Given the description of an element on the screen output the (x, y) to click on. 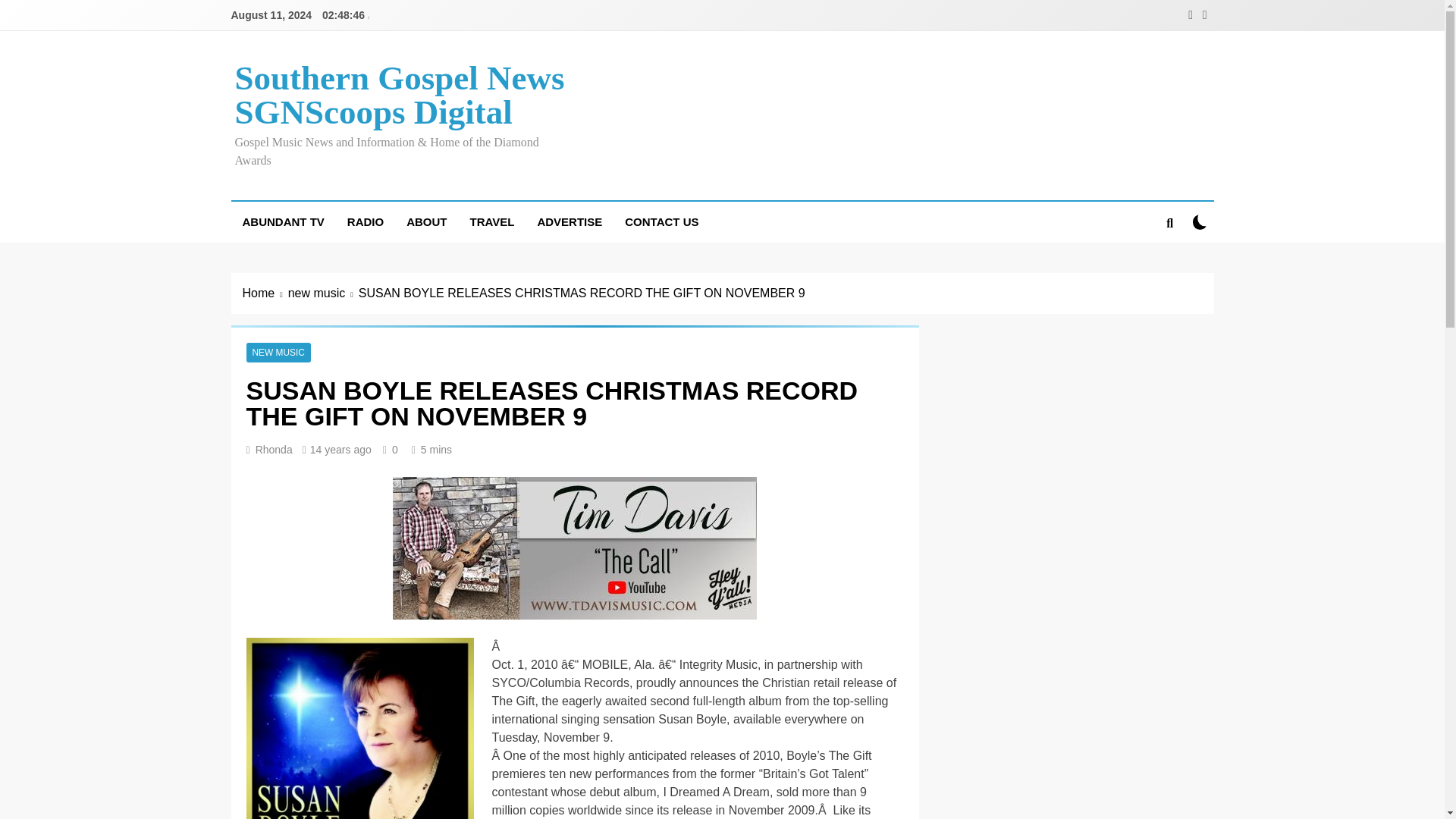
Southern Gospel News SGNScoops Digital (399, 94)
TRAVEL (491, 221)
Rhonda (274, 449)
NEW MUSIC (277, 352)
Home (265, 293)
new music (323, 293)
ABOUT (426, 221)
susan boyle (359, 728)
CONTACT US (661, 221)
ADVERTISE (568, 221)
